Given the description of an element on the screen output the (x, y) to click on. 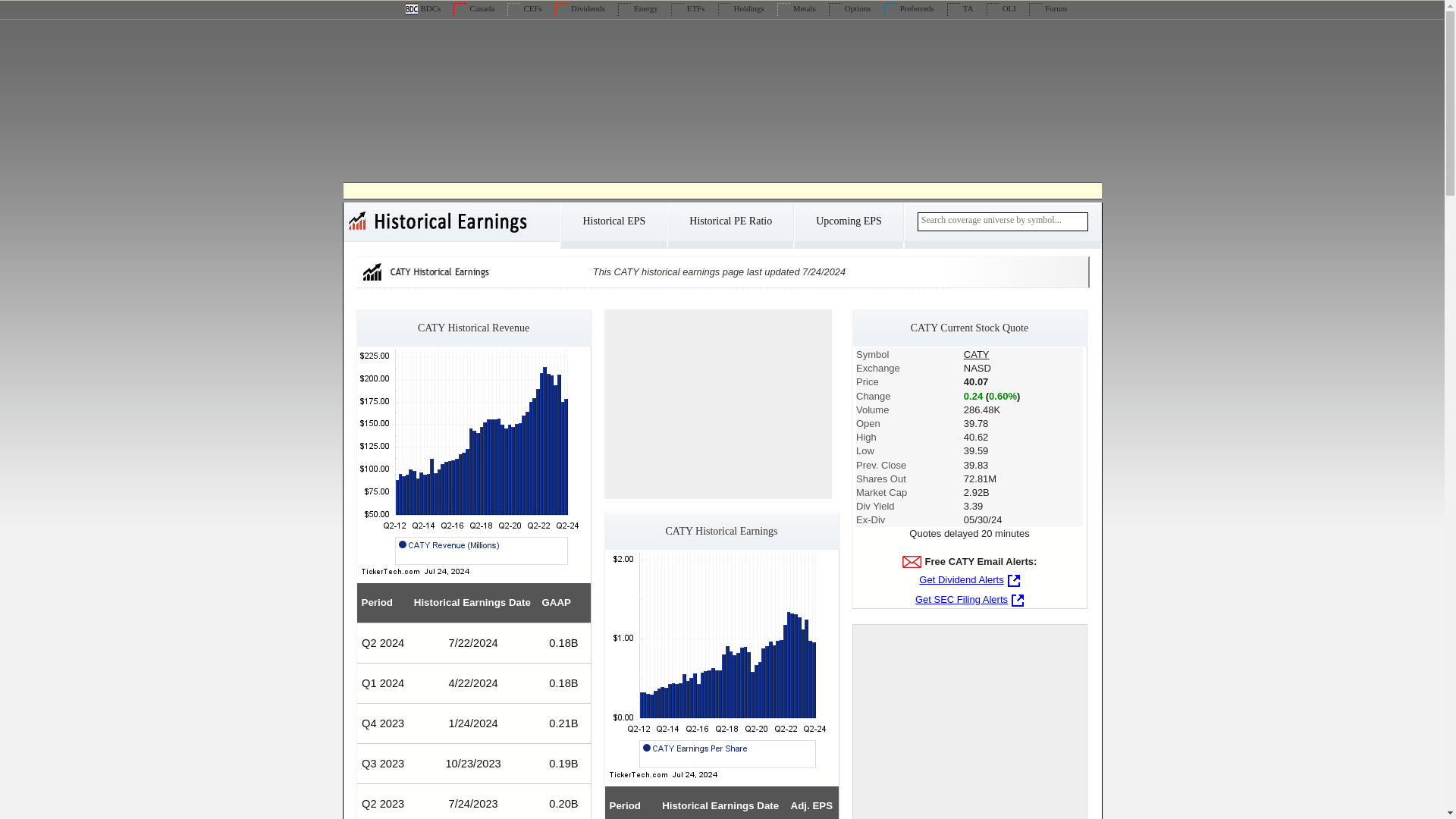
Options (849, 8)
Historical PE Ratio (729, 225)
Enery Stock Channel (637, 8)
Preferred Stocks (908, 8)
Get SEC Filing Alerts (969, 599)
Forum (1048, 8)
Metals (796, 8)
Canada Stock Channel (473, 8)
Historical EPS (613, 225)
Historical PE Ratio (729, 225)
